Given the description of an element on the screen output the (x, y) to click on. 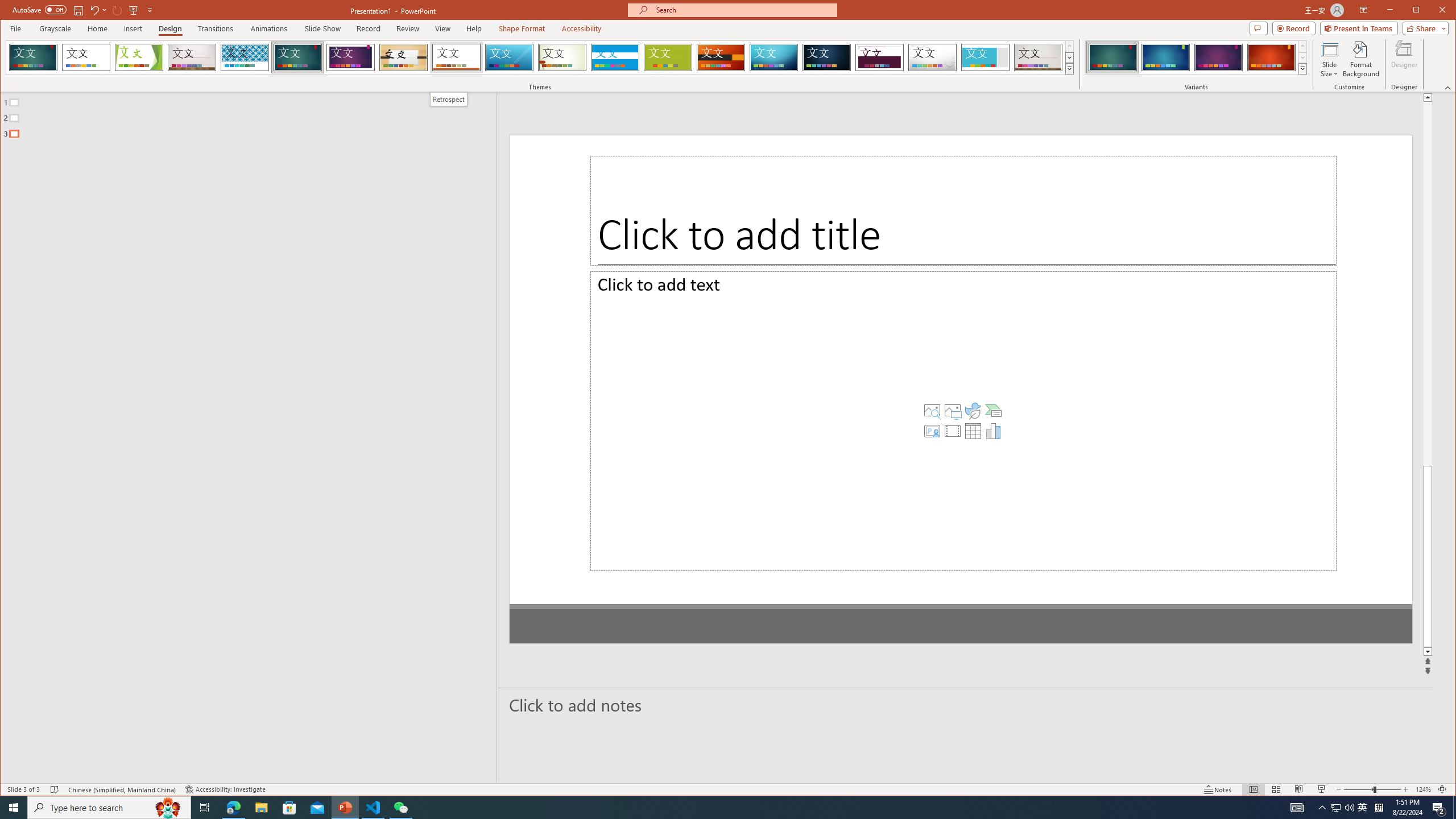
Insert Table (931, 452)
WeChat - 1 running window (400, 807)
Insert Video (911, 452)
Ion Variant 2 (1165, 57)
Ion Variant 4 (1270, 57)
Outline (252, 115)
Insert a SmartArt Graphic (952, 432)
